Given the description of an element on the screen output the (x, y) to click on. 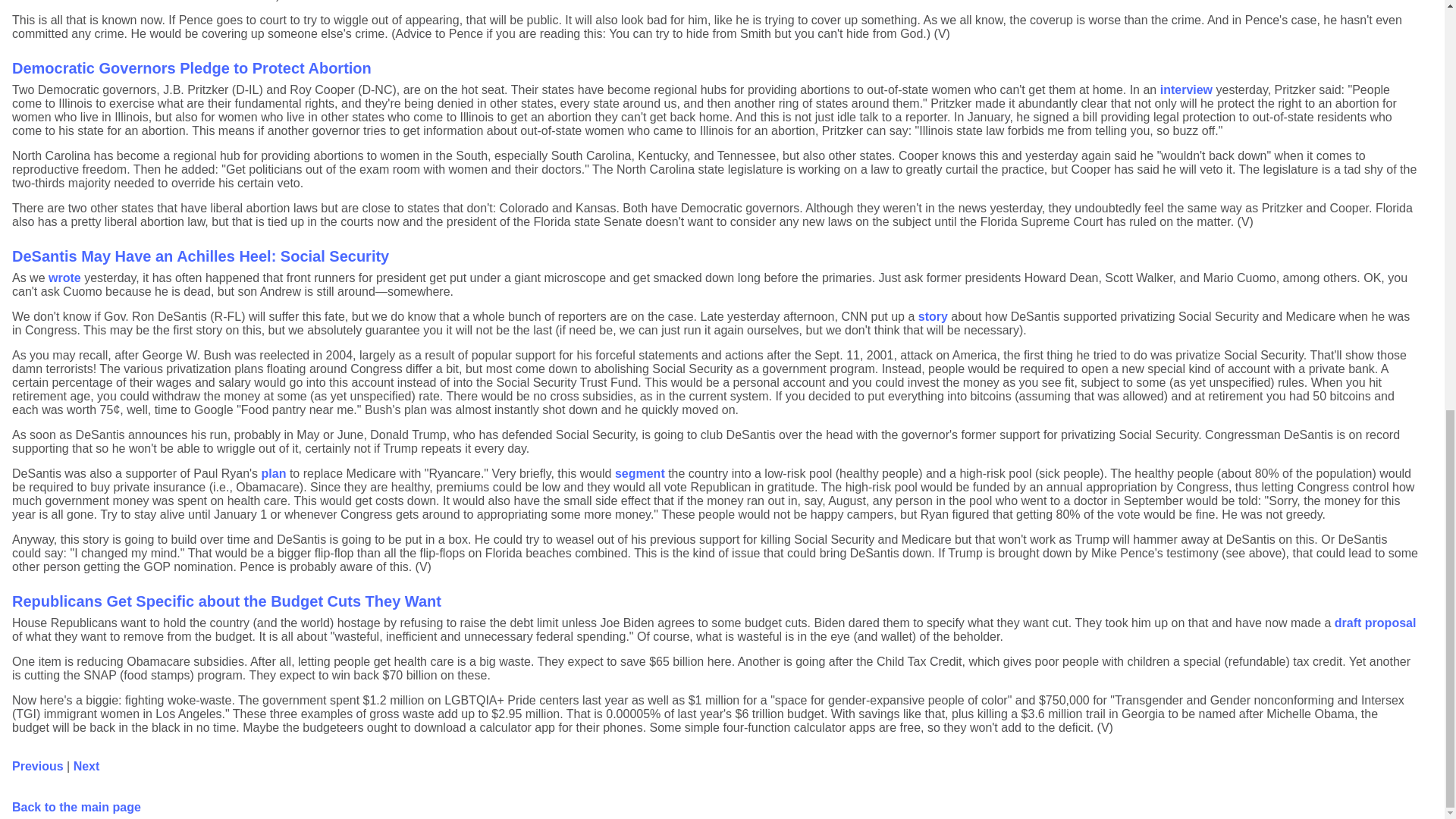
draft proposal (1375, 622)
Republicans Get Specific about the Budget Cuts They Want (226, 600)
wrote (64, 277)
DeSantis May Have an Achilles Heel: Social Security (199, 256)
Democratic Governors Pledge to Protect Abortion (191, 67)
Previous (37, 766)
segment (639, 472)
plan (274, 472)
Next (87, 766)
story (932, 316)
interview (1186, 89)
Back to the main page (76, 807)
